Given the description of an element on the screen output the (x, y) to click on. 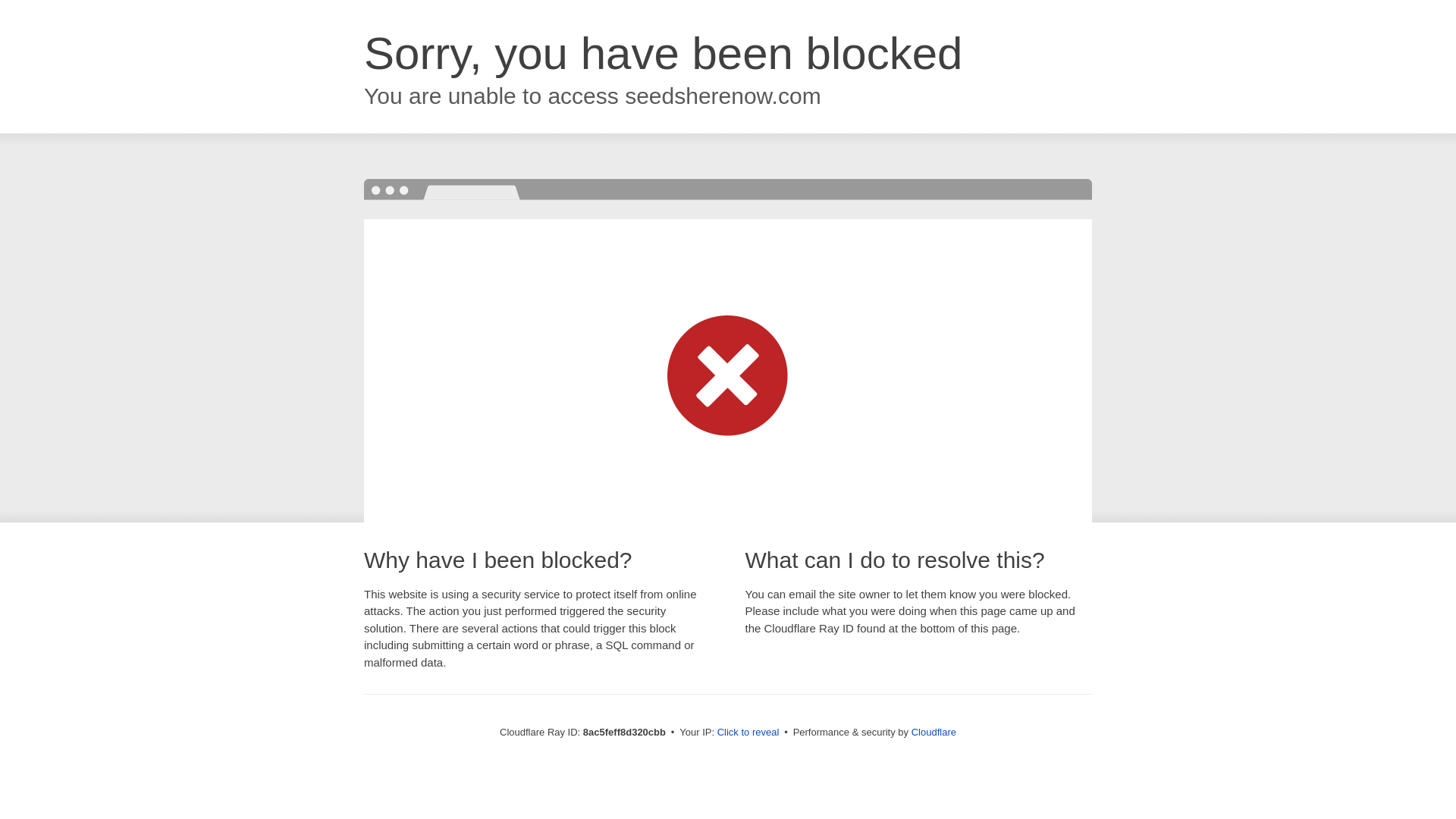
Click to reveal (747, 732)
Cloudflare (933, 731)
